Given the description of an element on the screen output the (x, y) to click on. 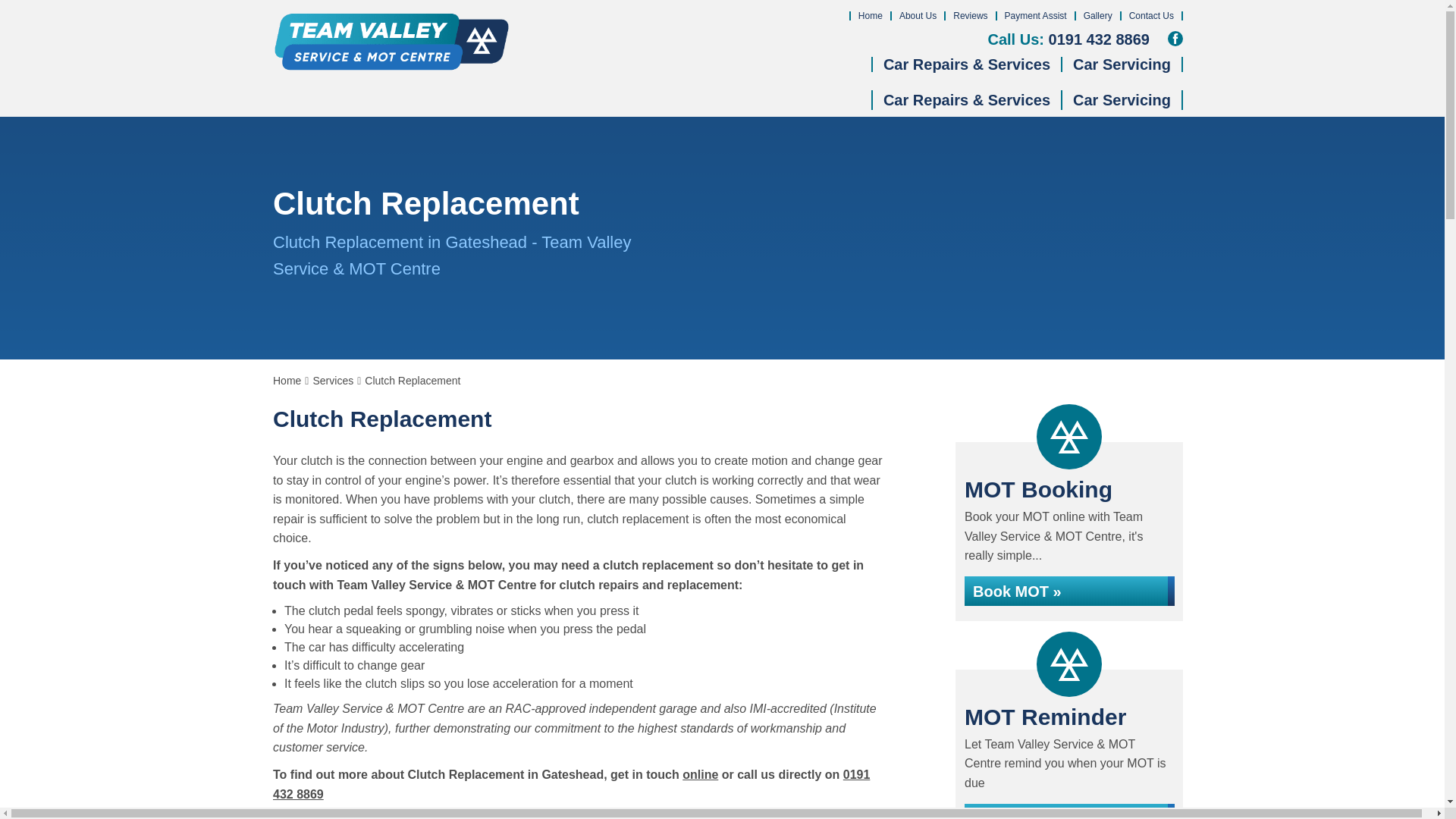
Car Servicing (1122, 64)
Call Us: 0191 432 8869 (1068, 38)
Contact Us (1151, 15)
About Us (917, 15)
Gallery (1097, 15)
Payment Assist (1035, 15)
Reviews (970, 15)
Home (870, 15)
